Given the description of an element on the screen output the (x, y) to click on. 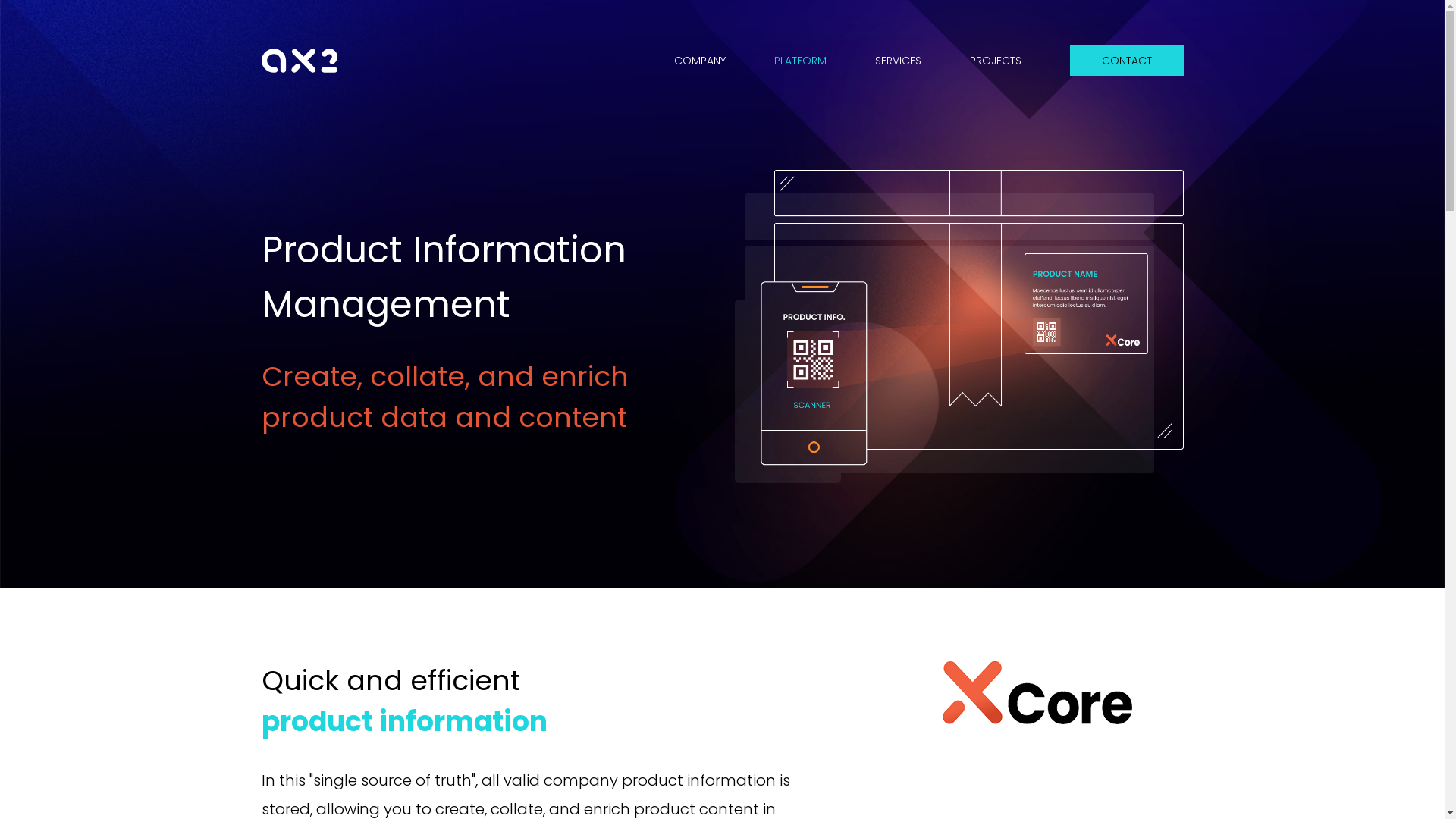
CONTACT Element type: text (1126, 60)
SERVICES Element type: text (898, 60)
COMPANY Element type: text (698, 60)
XCore Element type: hover (1037, 719)
PIM Header Element type: hover (958, 478)
PROJECTS Element type: text (994, 60)
XCore Element type: hover (1037, 692)
PLATFORM Element type: text (799, 60)
PIM Header Element type: hover (958, 326)
